Given the description of an element on the screen output the (x, y) to click on. 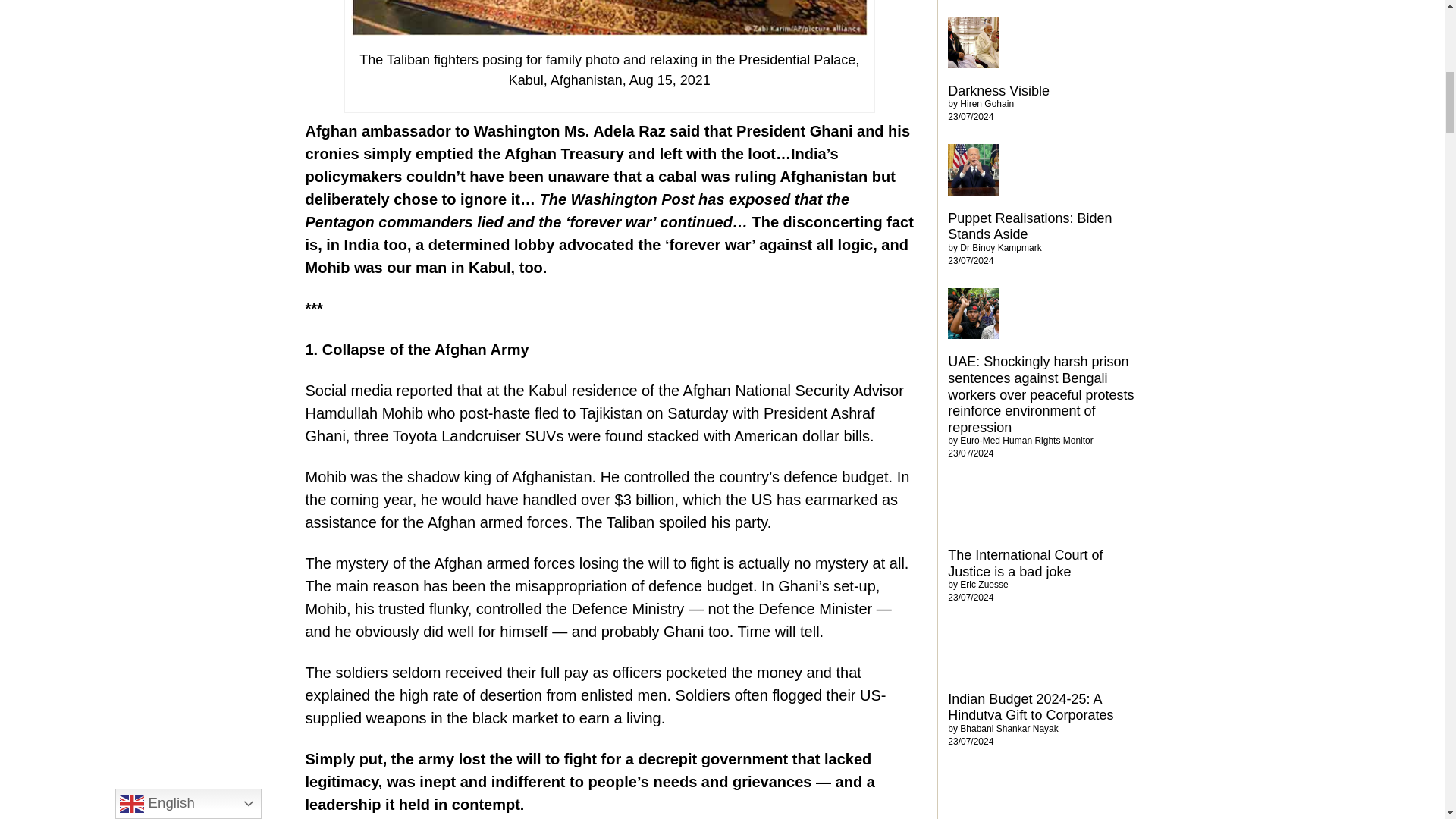
Reflections on Events in Afghanistan 1 (608, 18)
